Given the description of an element on the screen output the (x, y) to click on. 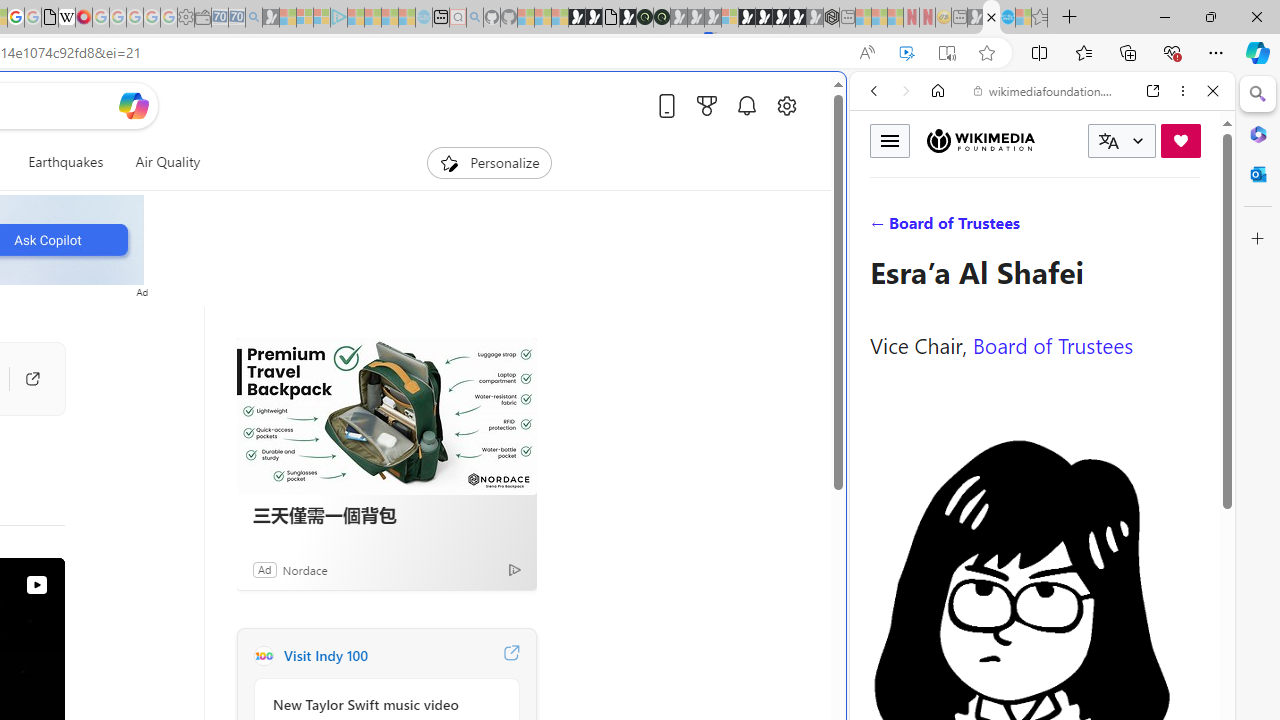
Air Quality (159, 162)
Earthquakes (65, 162)
Wikimedia Foundation (980, 140)
